Given the description of an element on the screen output the (x, y) to click on. 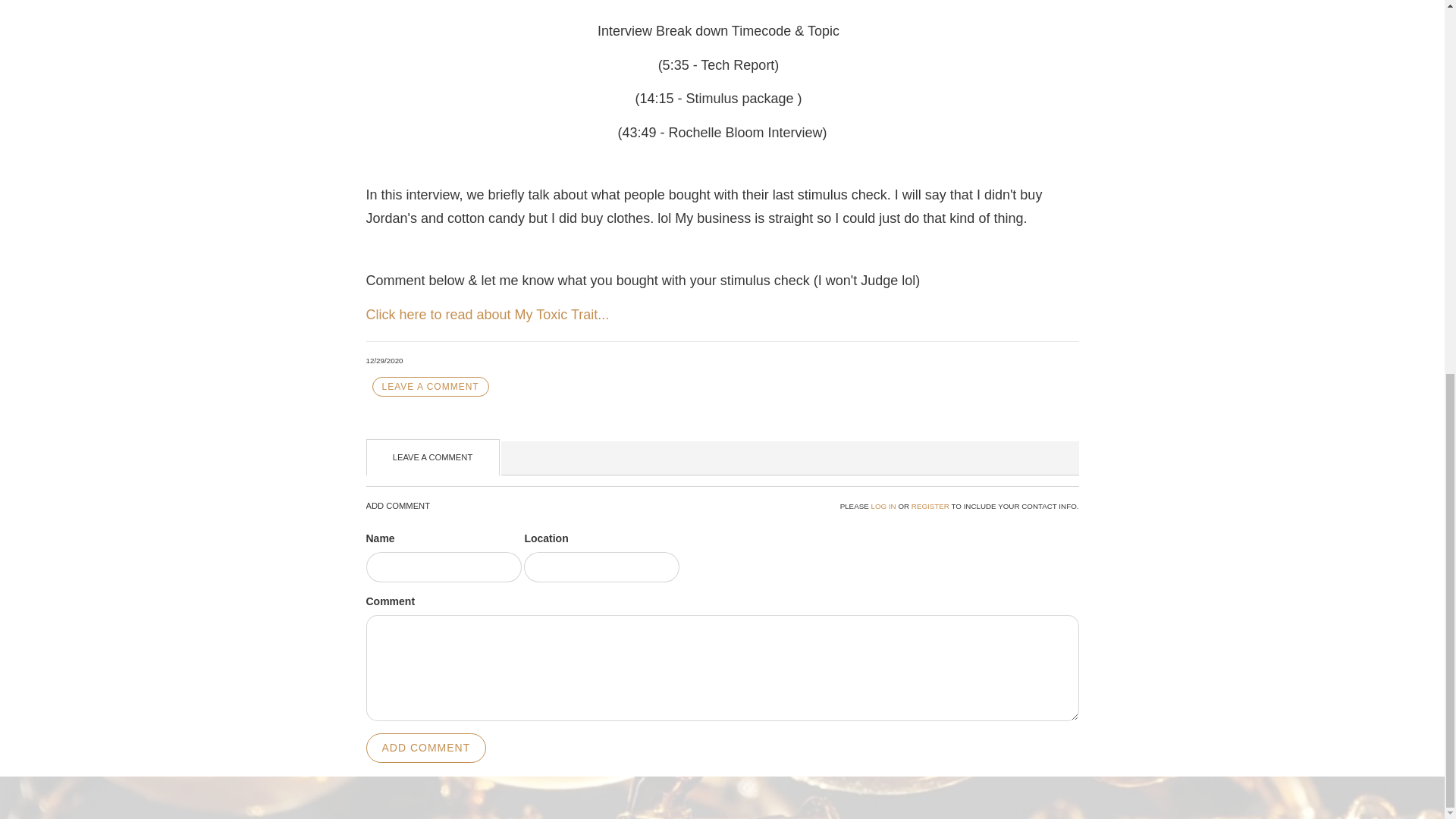
Click here to read about My Toxic Trait... (486, 315)
December 29, 2020 17:18 (384, 360)
Leave a comment (429, 386)
ADD COMMENT (425, 748)
LEAVE A COMMENT (429, 386)
REGISTER (930, 506)
LOG IN (882, 506)
